Given the description of an element on the screen output the (x, y) to click on. 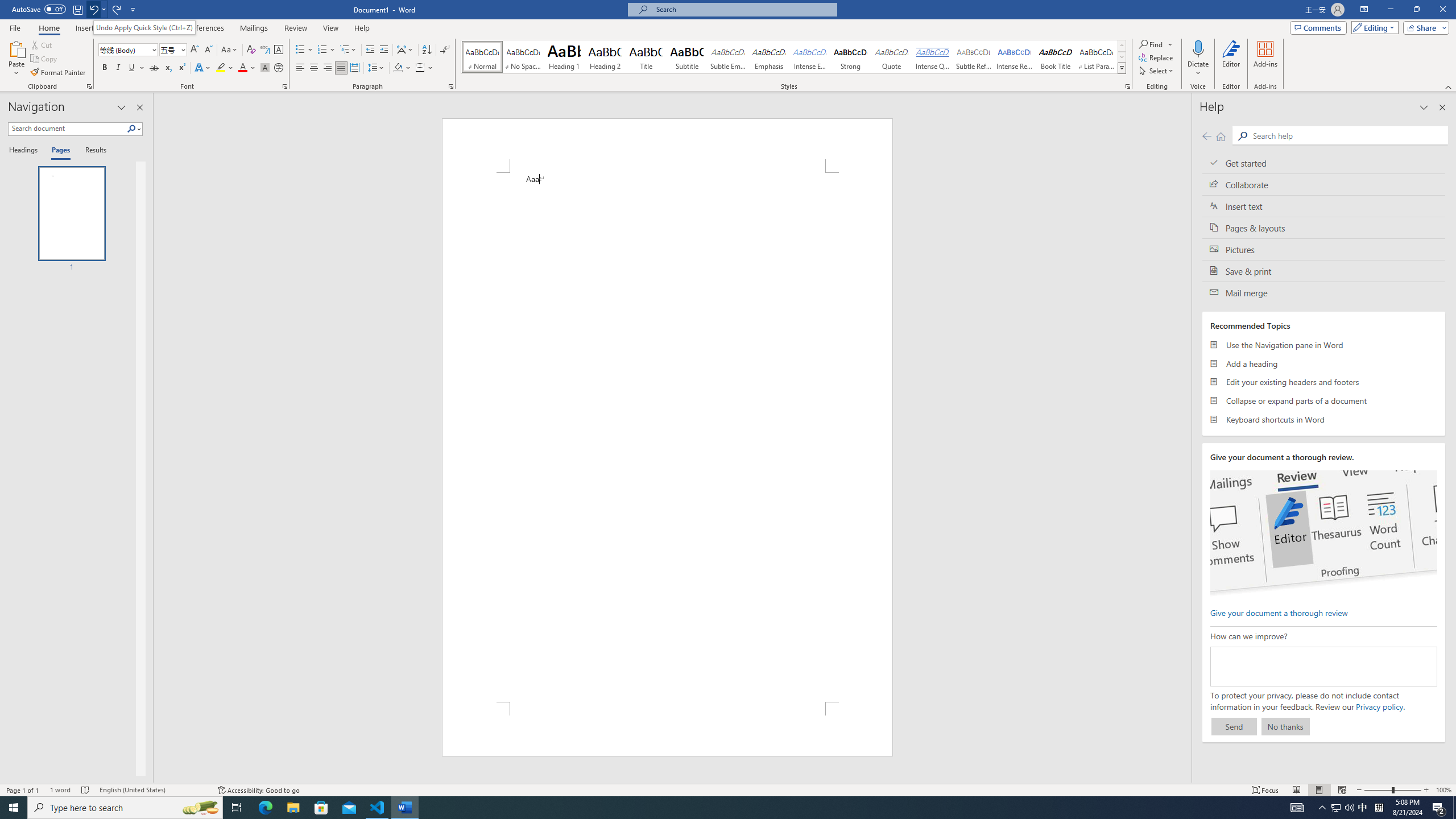
Intense Emphasis (809, 56)
Give your document a thorough review (1278, 611)
Collaborate (1323, 184)
